Given the description of an element on the screen output the (x, y) to click on. 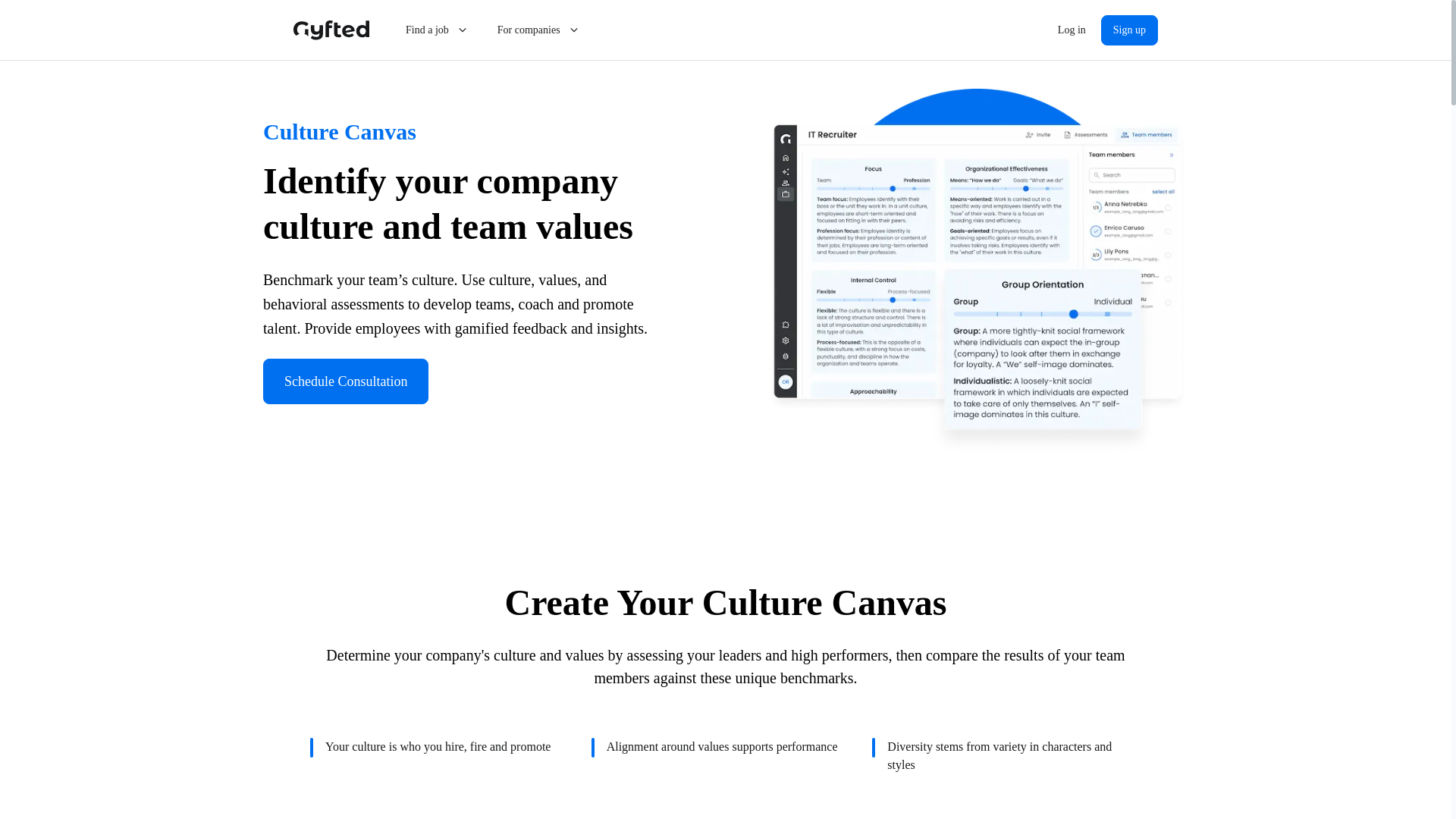
For companies (539, 30)
Find a job (437, 30)
Schedule Consultation (345, 381)
Sign up (1128, 30)
Log in (1071, 30)
